Given the description of an element on the screen output the (x, y) to click on. 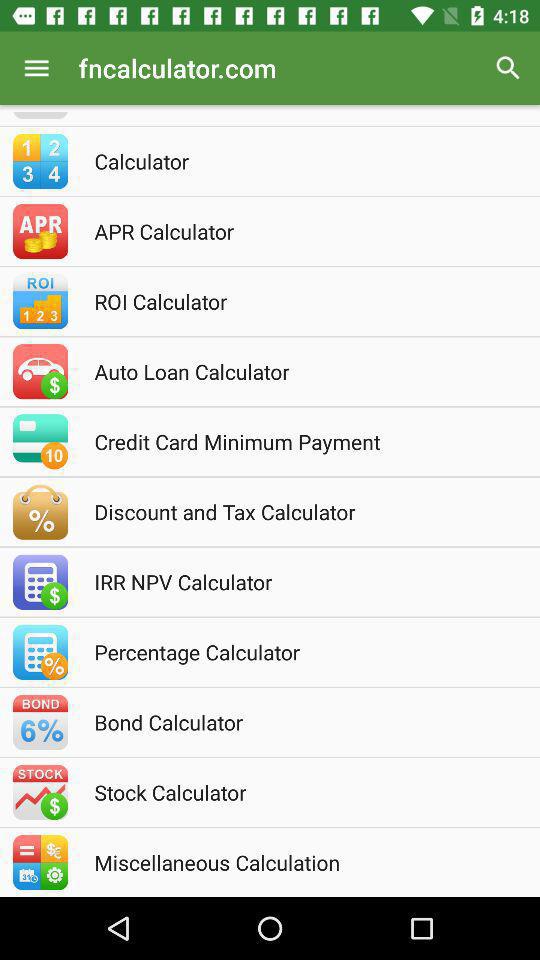
press the icon next to the fncalculator.com icon (508, 67)
